Given the description of an element on the screen output the (x, y) to click on. 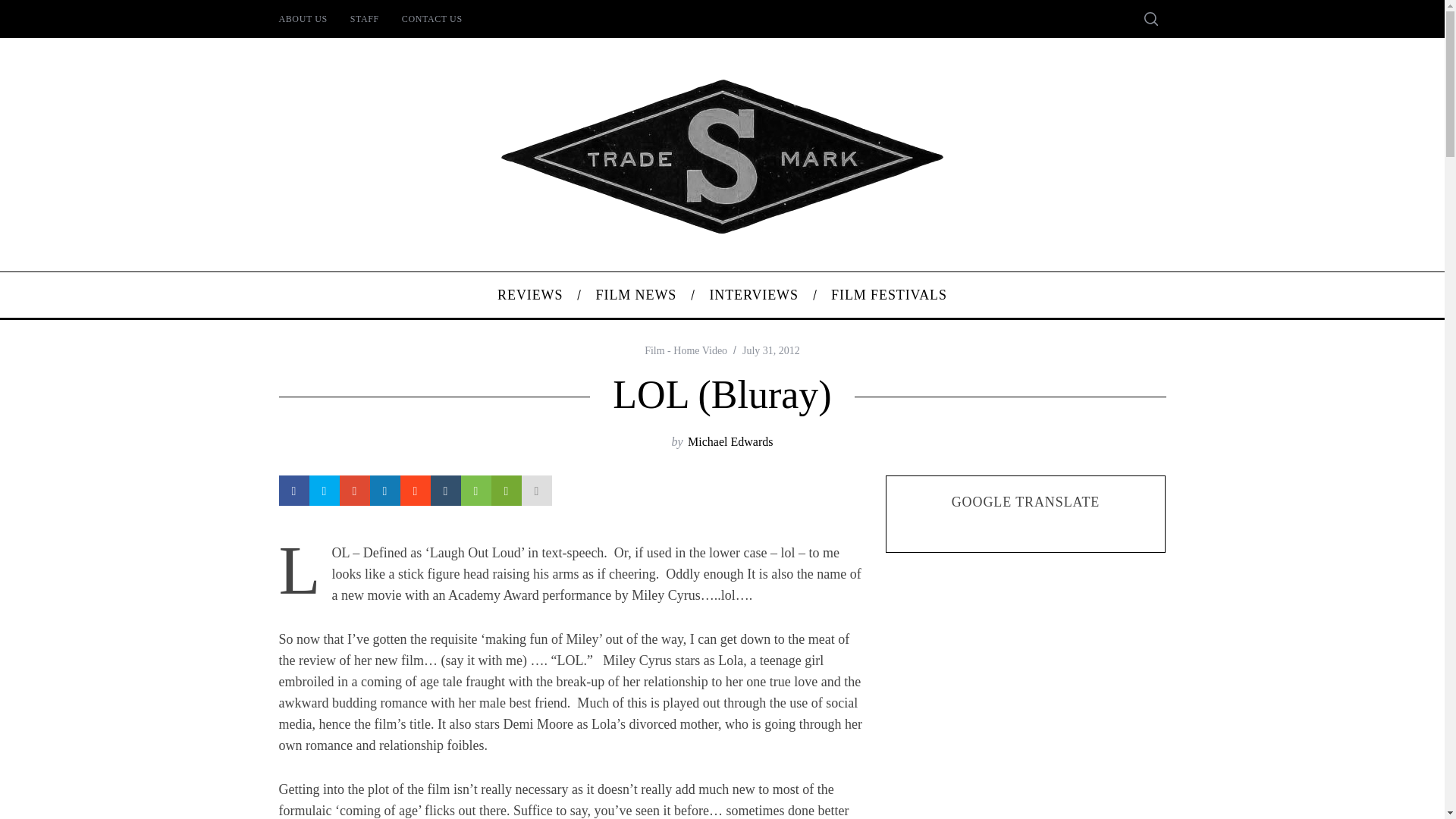
CONTACT US (432, 18)
STAFF (364, 18)
FILM NEWS (636, 294)
ABOUT US (301, 18)
Michael Edwards (730, 440)
INTERVIEWS (754, 294)
REVIEWS (529, 294)
FILM FESTIVALS (889, 294)
Film - Home Video (685, 350)
